Given the description of an element on the screen output the (x, y) to click on. 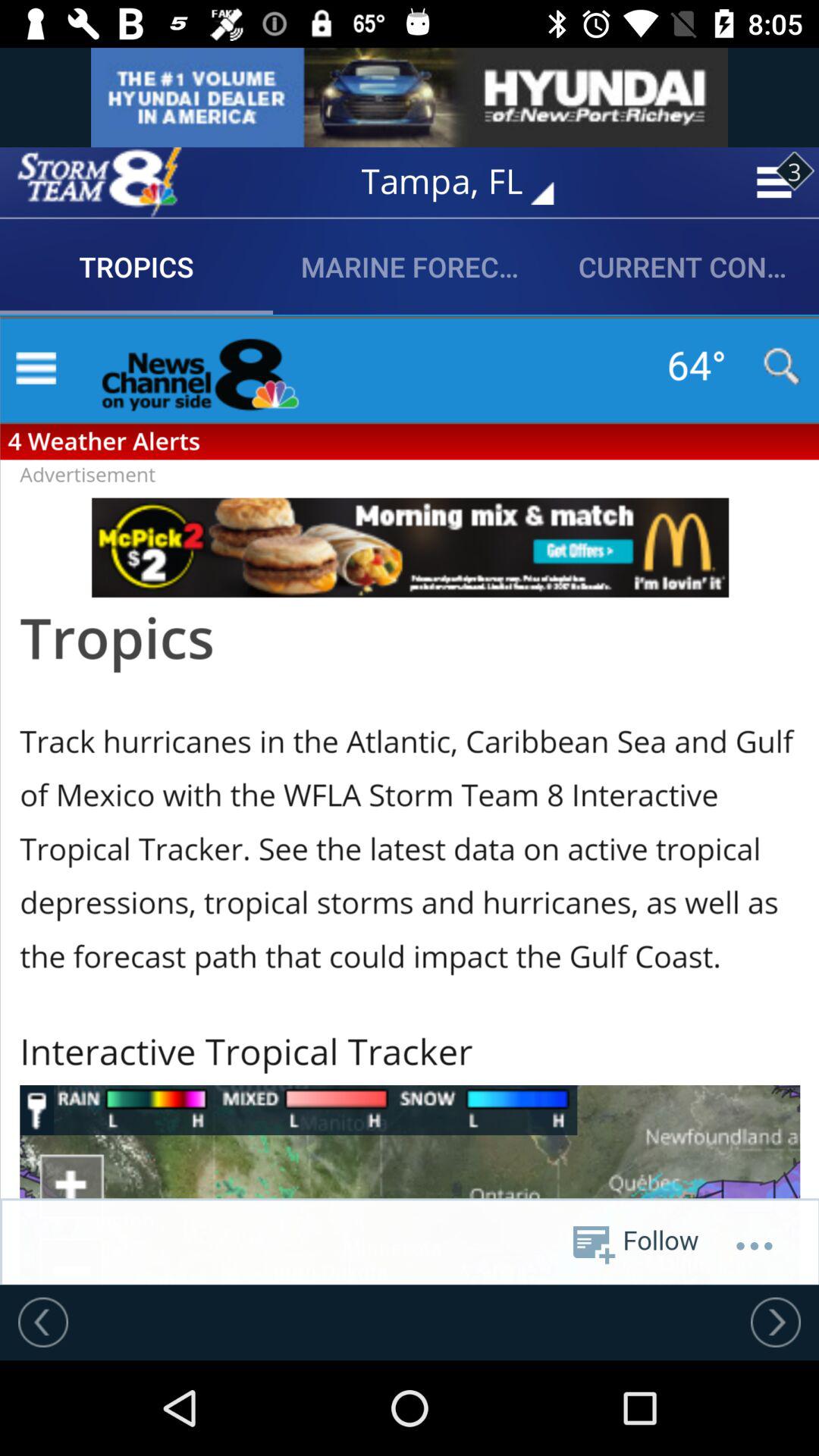
go to homepage (99, 182)
